Given the description of an element on the screen output the (x, y) to click on. 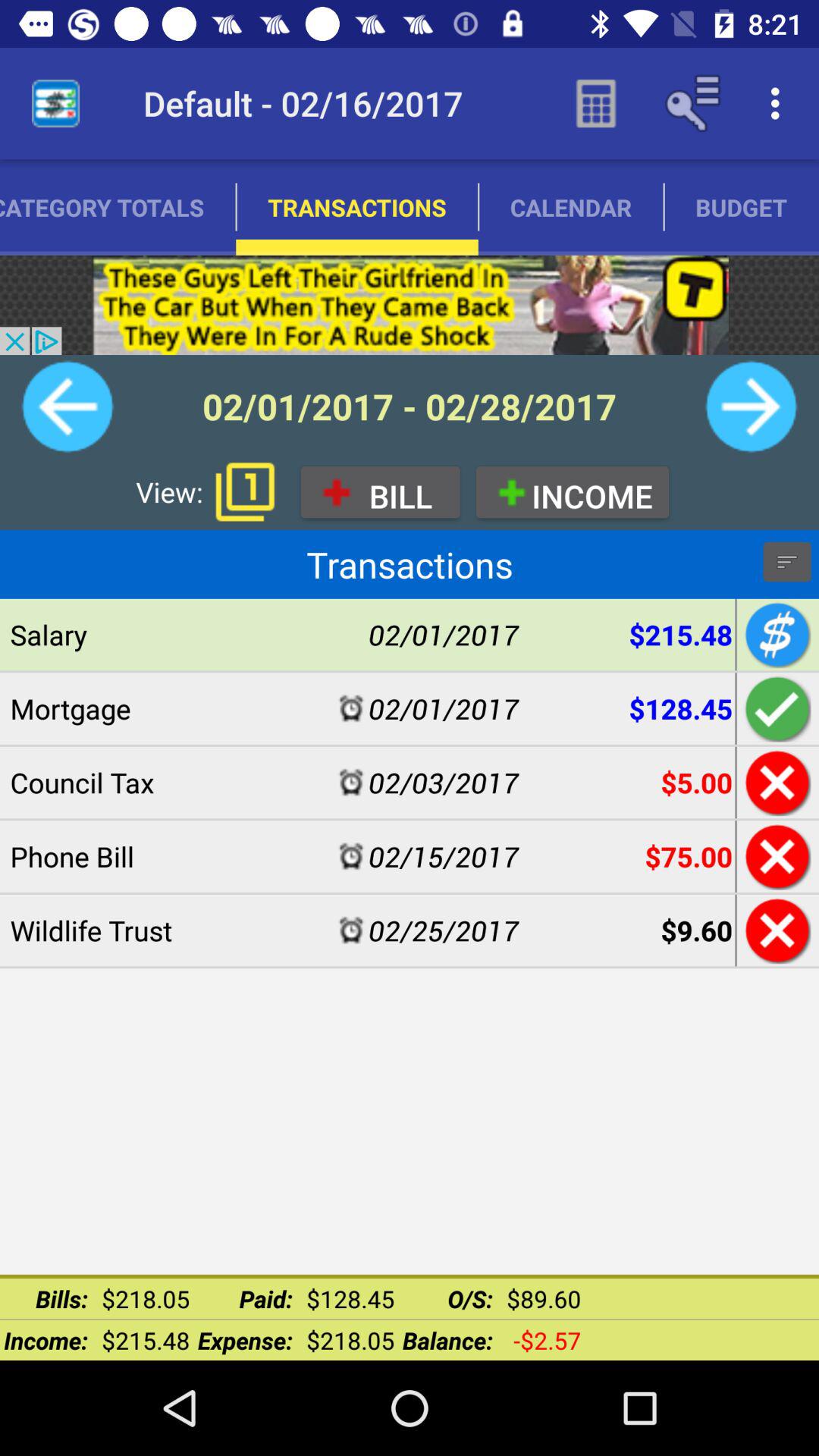
go back (775, 930)
